Given the description of an element on the screen output the (x, y) to click on. 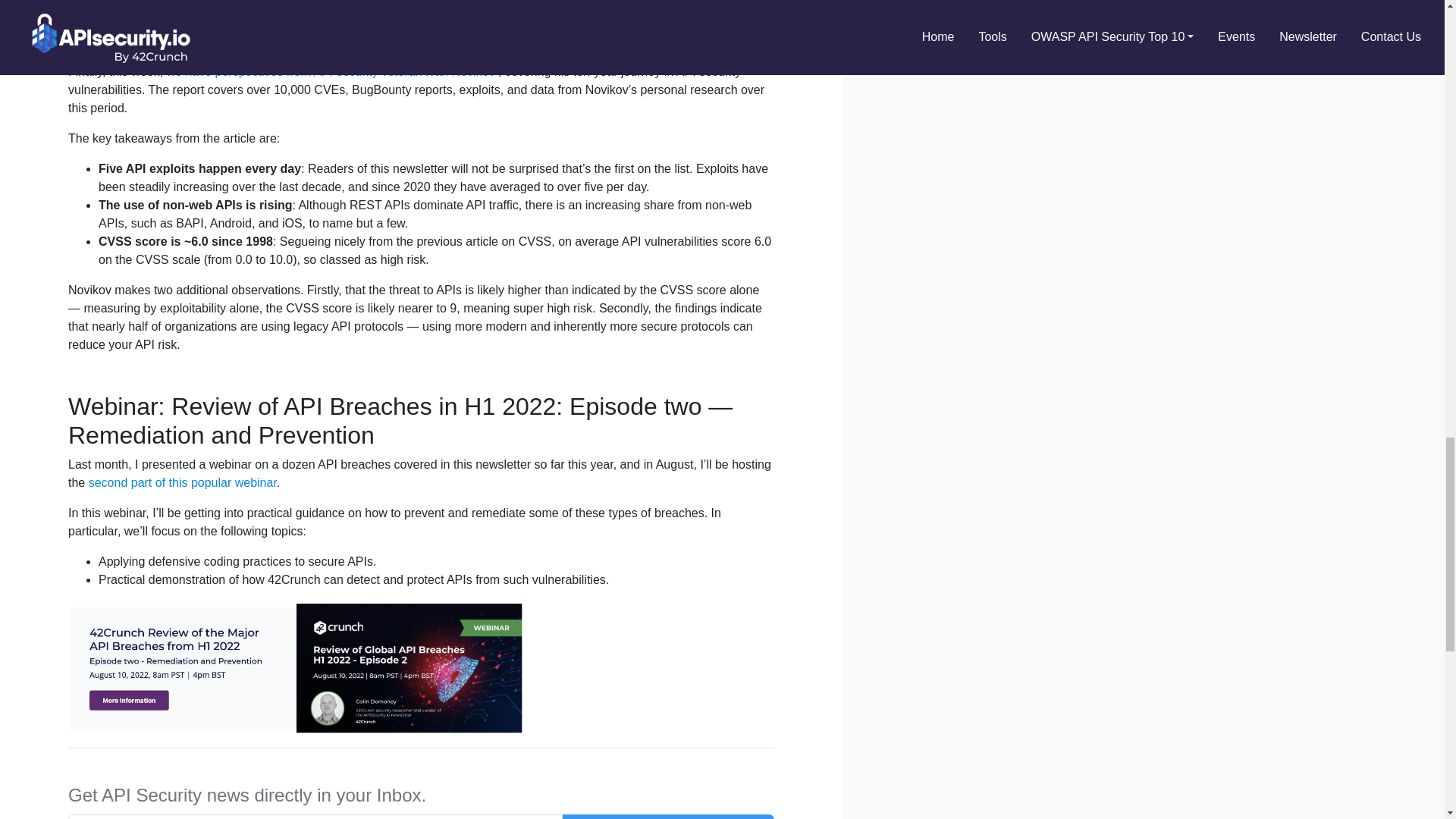
SUBSCRIBE (668, 816)
we have perspectives from API security veteran Ivan Novikov (331, 71)
SUBSCRIBE (668, 816)
second part of this popular webinar (182, 481)
